Given the description of an element on the screen output the (x, y) to click on. 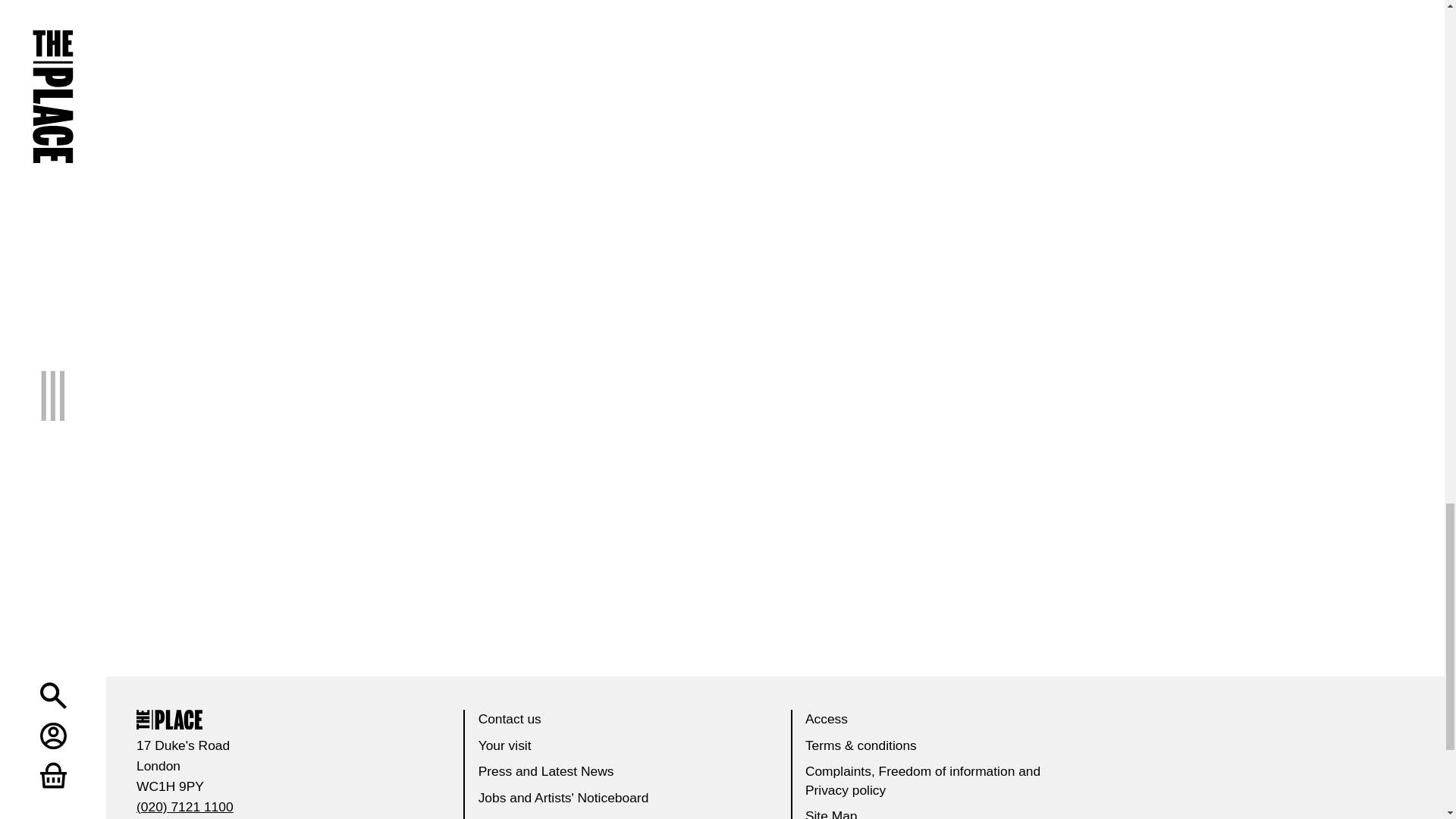
Jobs and Artists' Noticeboard (564, 797)
Site Map (831, 813)
Access (826, 718)
Press and Latest News (546, 770)
Contact us (510, 718)
Your visit (505, 744)
Complaints, Freedom of information and Privacy policy (923, 779)
Hire our space (521, 817)
